Given the description of an element on the screen output the (x, y) to click on. 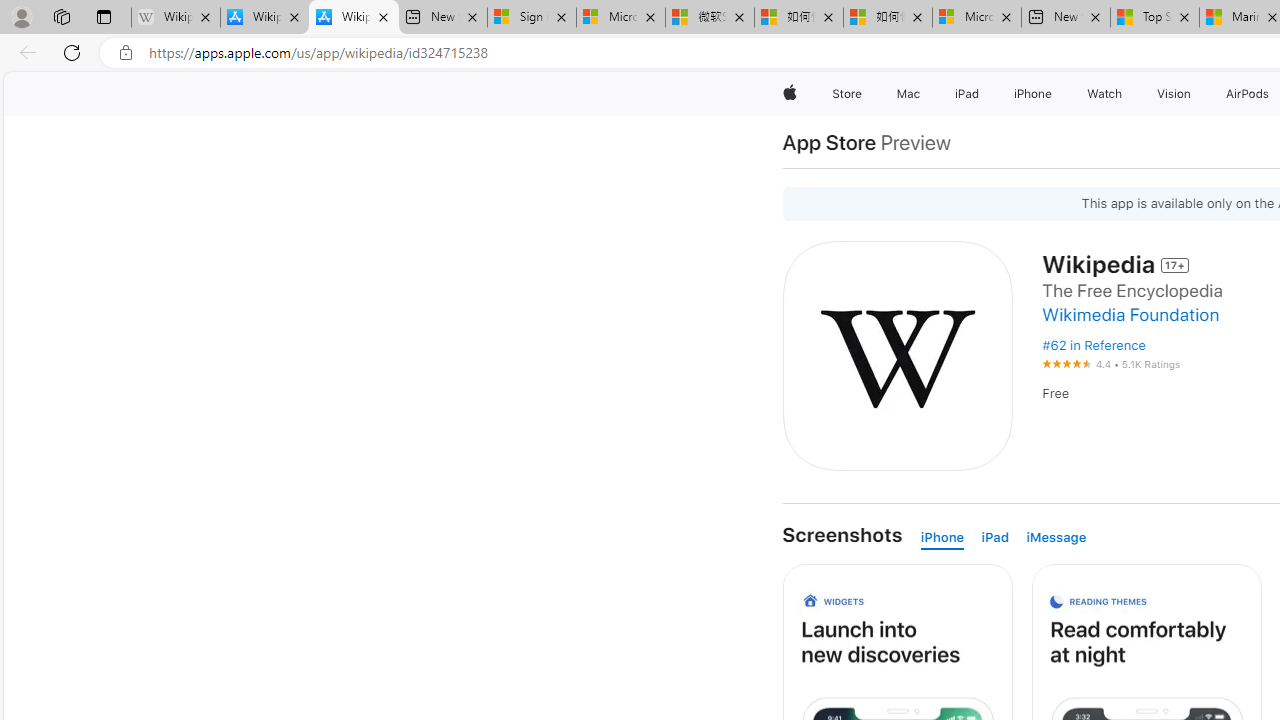
#62 in Reference (1093, 345)
Vision (1174, 93)
Watch menu (1125, 93)
AirPods (1247, 93)
Mac (908, 93)
AirPods (1247, 93)
iPad (994, 538)
